Given the description of an element on the screen output the (x, y) to click on. 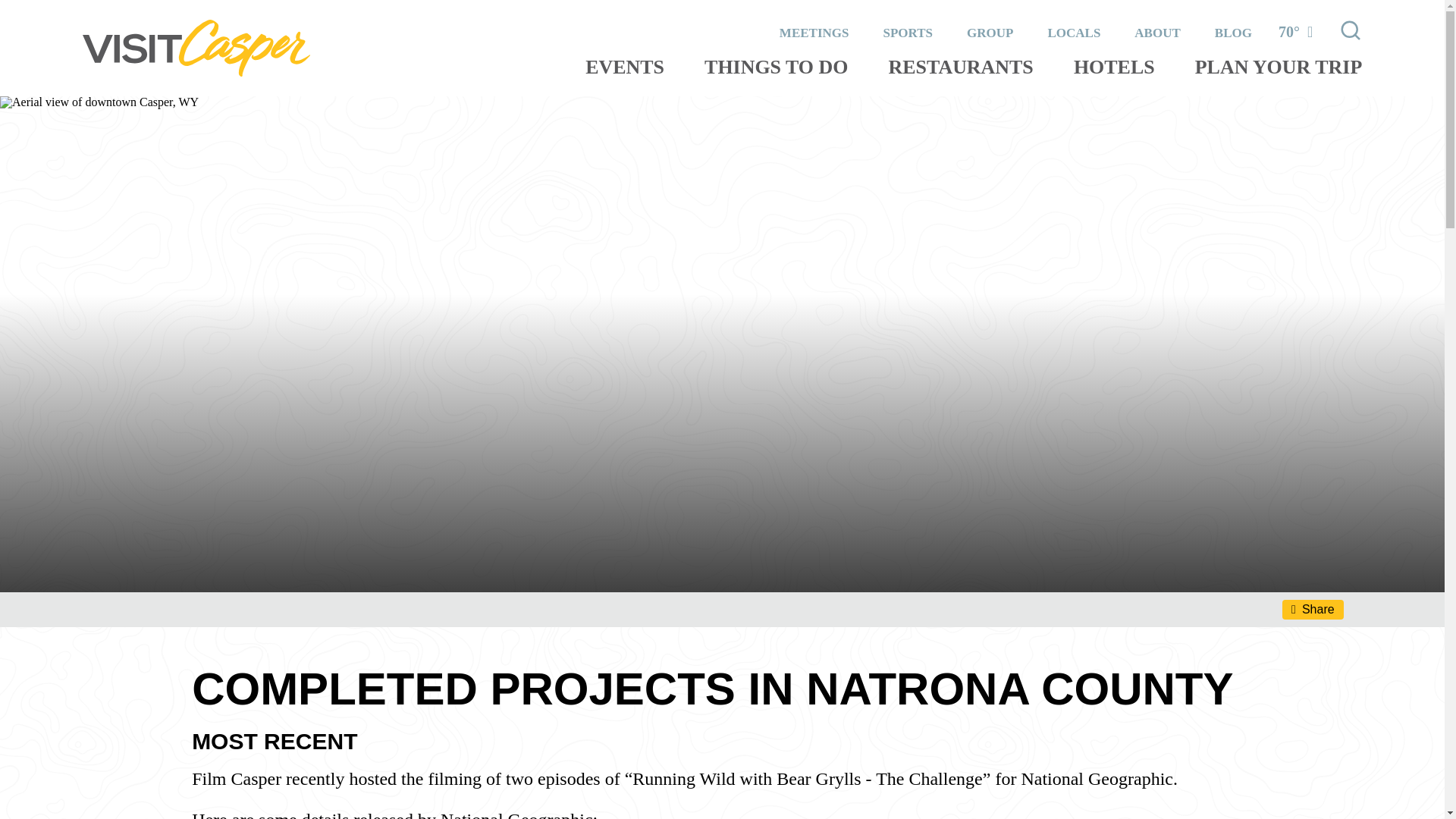
ABOUT (1156, 32)
SPORTS (907, 32)
MEETINGS (813, 32)
LOCALS (1073, 32)
GROUP (989, 32)
